Given the description of an element on the screen output the (x, y) to click on. 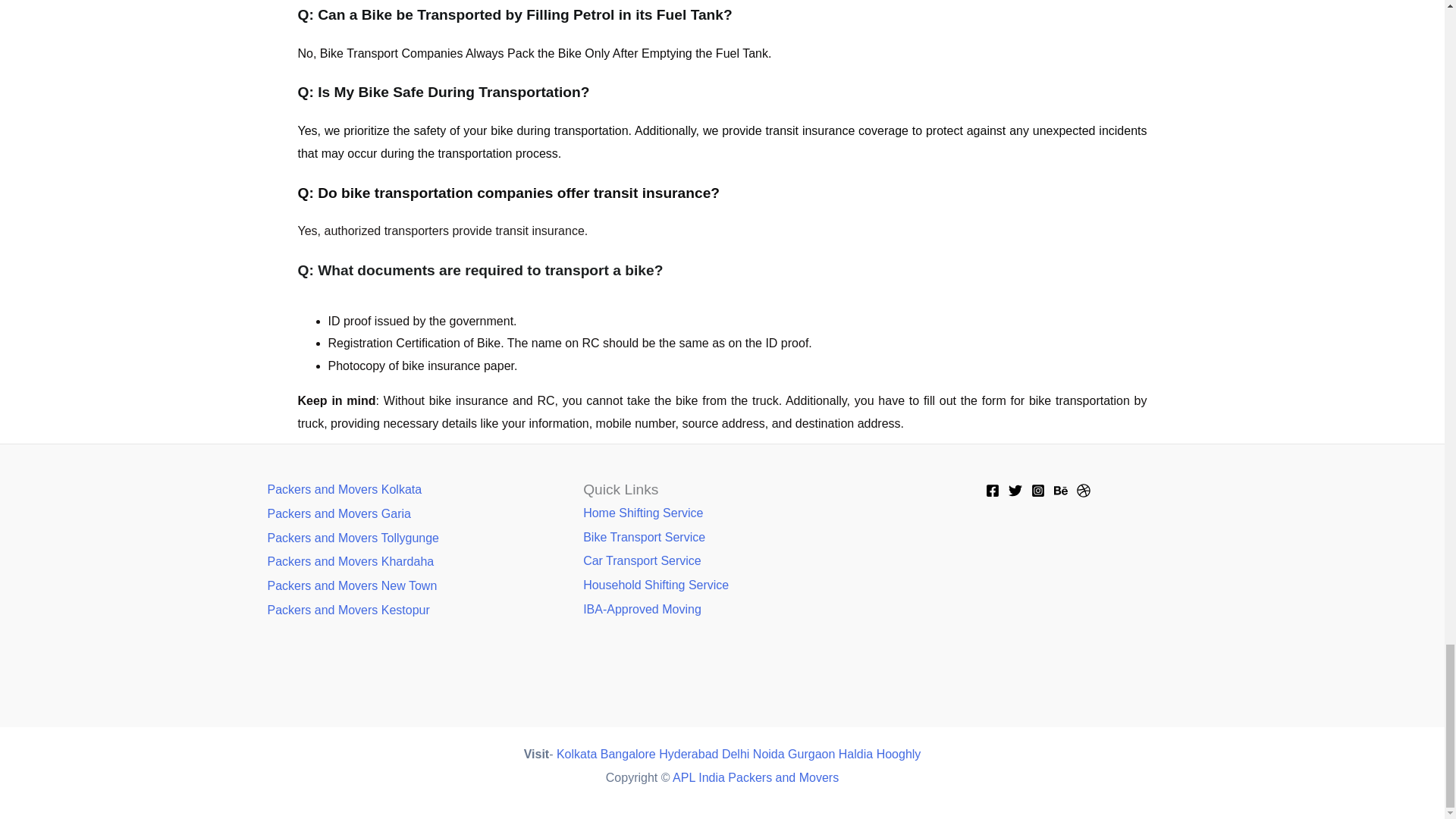
Packers and Movers Khardaha (349, 561)
Packers and Movers Kolkata (344, 489)
Household Shifting Service (656, 584)
Packers and Movers Kestopur (347, 609)
Packers and Movers New Town (351, 585)
Home Shifting Service (643, 512)
Bike Transport Service (643, 536)
Car Transport Service (642, 560)
Packers and Movers Garia (338, 513)
Packers and Movers Tollygunge (352, 537)
